Given the description of an element on the screen output the (x, y) to click on. 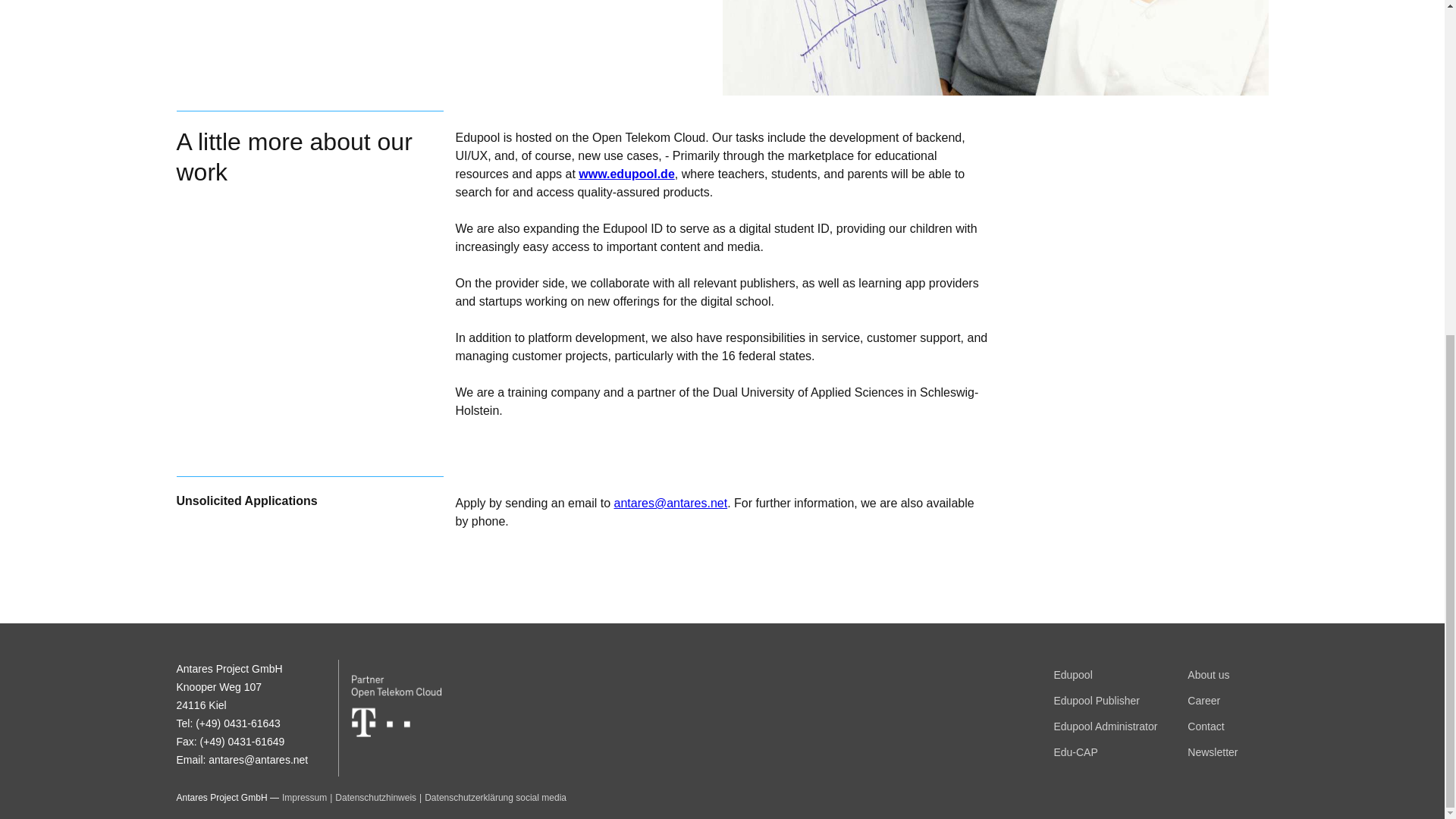
Edupool (1072, 674)
Datenschutzhinweis (375, 797)
Contact (1206, 726)
Edu-CAP (1074, 752)
Edupool Administrator (1104, 726)
About us (1208, 674)
Career (1204, 700)
www.edupool.de (626, 173)
Impressum (304, 797)
Newsletter (1212, 752)
